Given the description of an element on the screen output the (x, y) to click on. 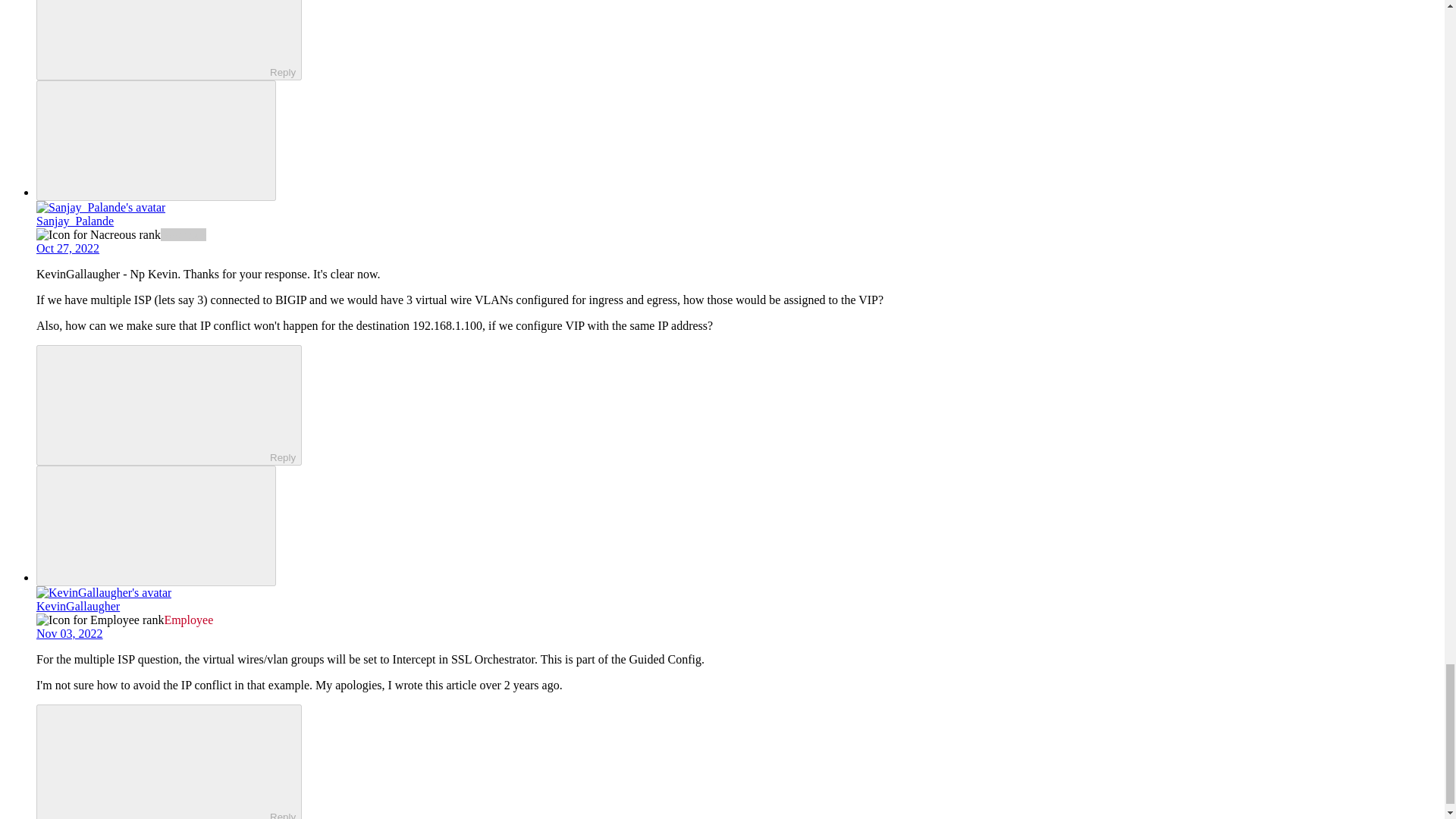
November 3, 2022 at 5:28 PM (69, 633)
October 27, 2022 at 9:04 PM (67, 247)
Reply (155, 404)
Reply (155, 38)
